Given the description of an element on the screen output the (x, y) to click on. 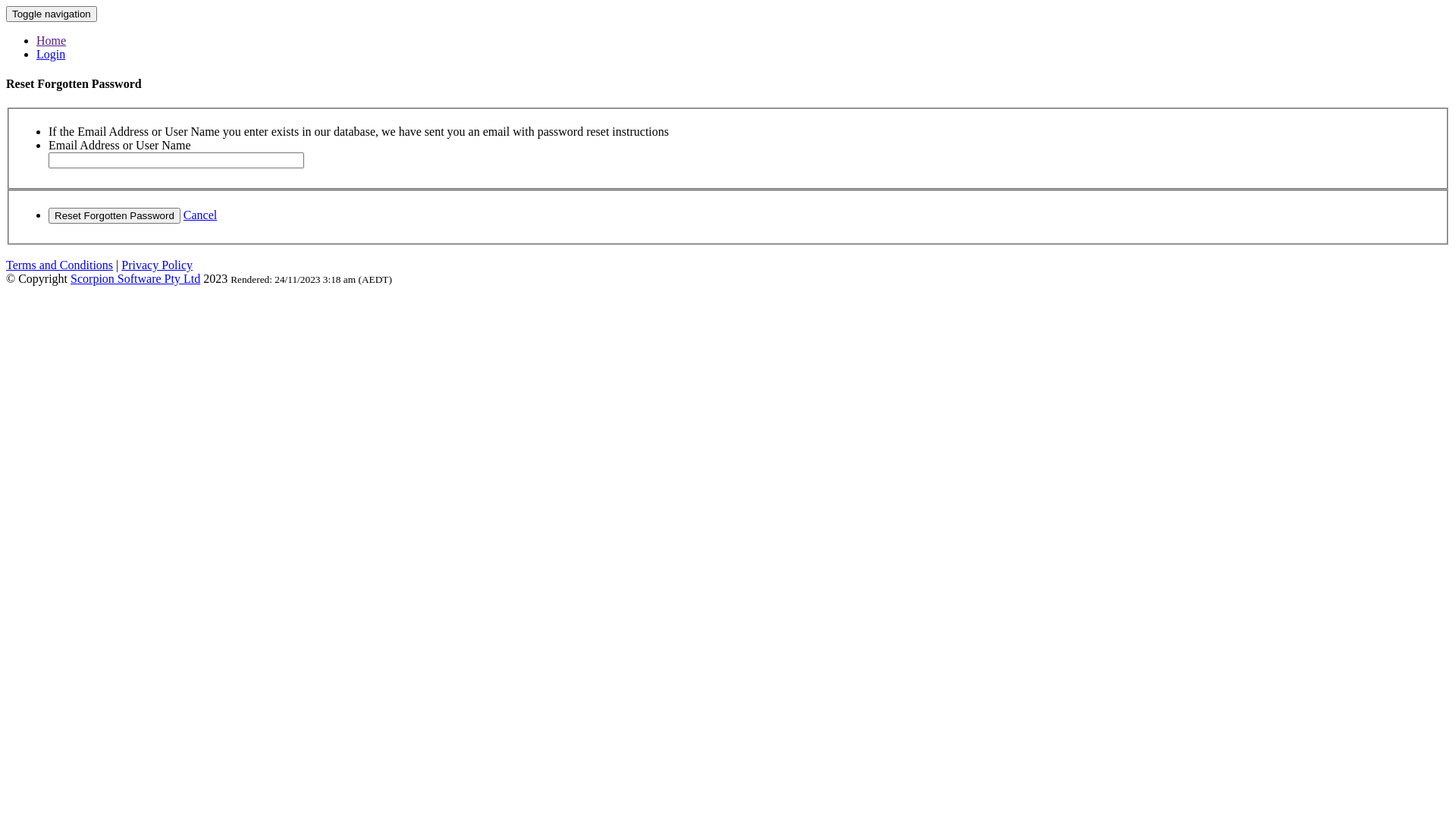
Cancel Element type: text (199, 214)
Login Element type: text (50, 53)
Reset Forgotten Password Element type: text (114, 215)
Privacy Policy Element type: text (156, 264)
Terms and Conditions Element type: text (59, 264)
Toggle navigation Element type: text (51, 13)
Home Element type: text (50, 40)
Scorpion Software Pty Ltd Element type: text (135, 278)
